Given the description of an element on the screen output the (x, y) to click on. 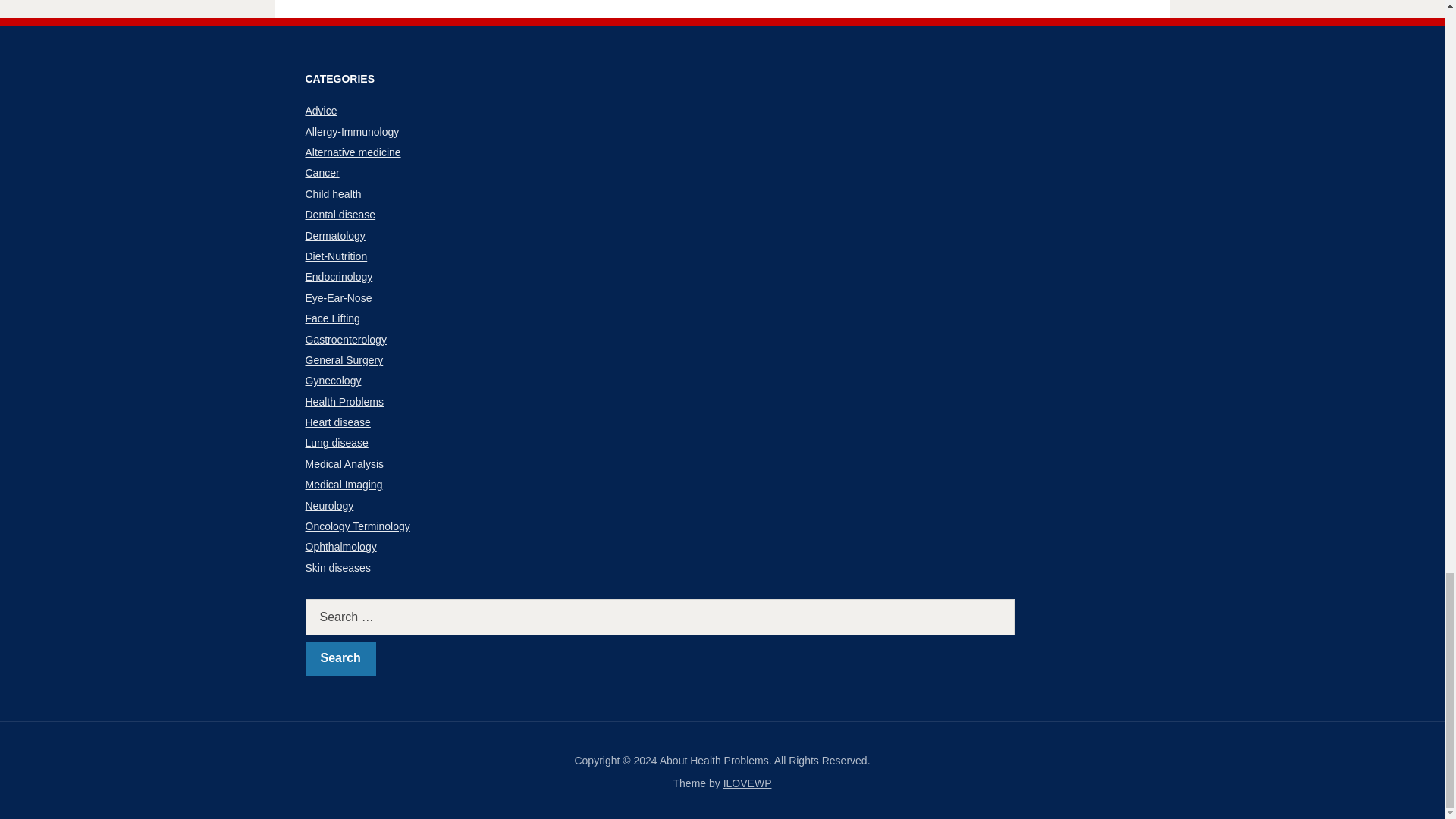
Search (339, 658)
Search (339, 658)
